Given the description of an element on the screen output the (x, y) to click on. 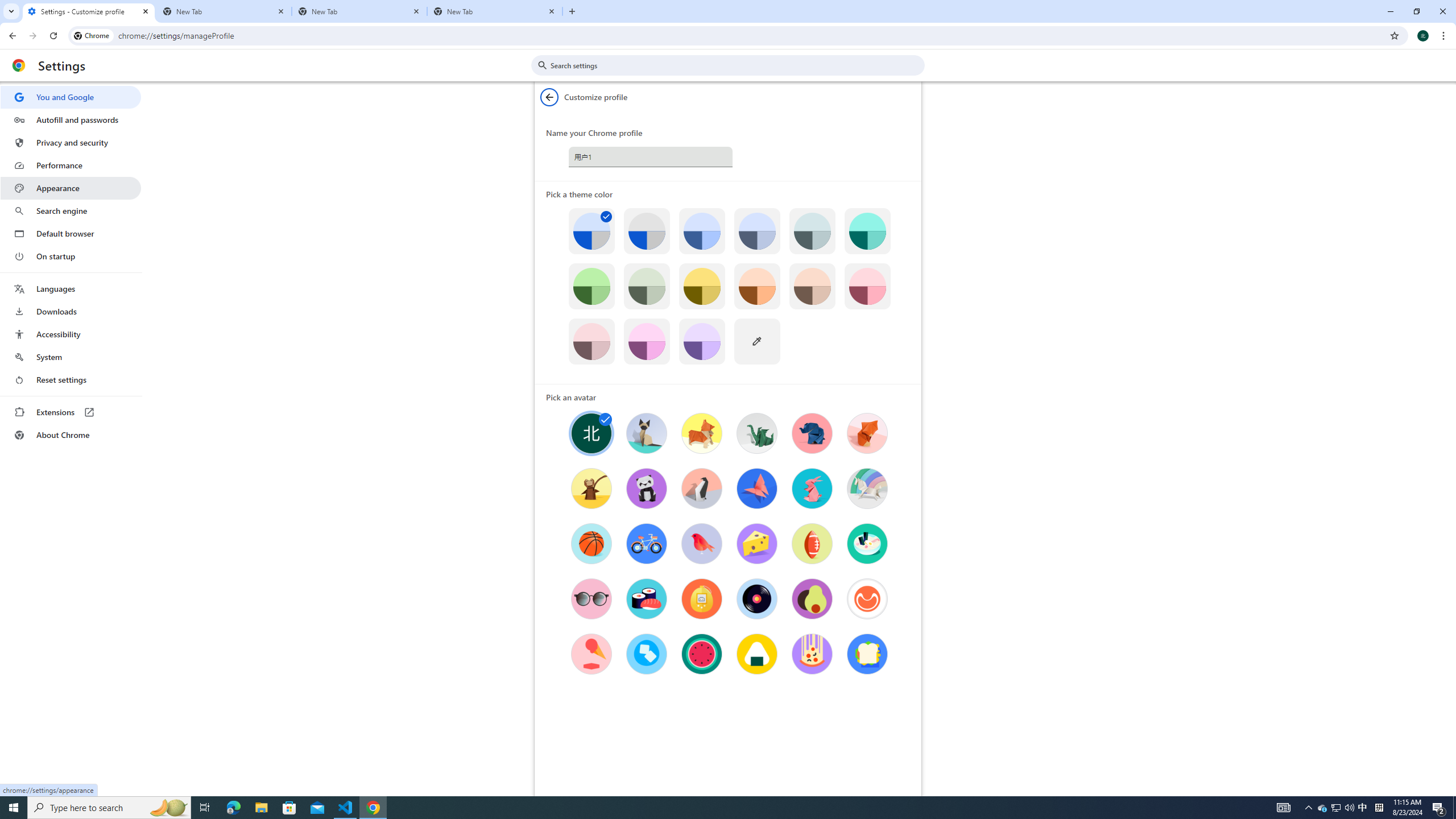
Search engine (70, 210)
Reset settings (70, 379)
Privacy and security (70, 142)
